Given the description of an element on the screen output the (x, y) to click on. 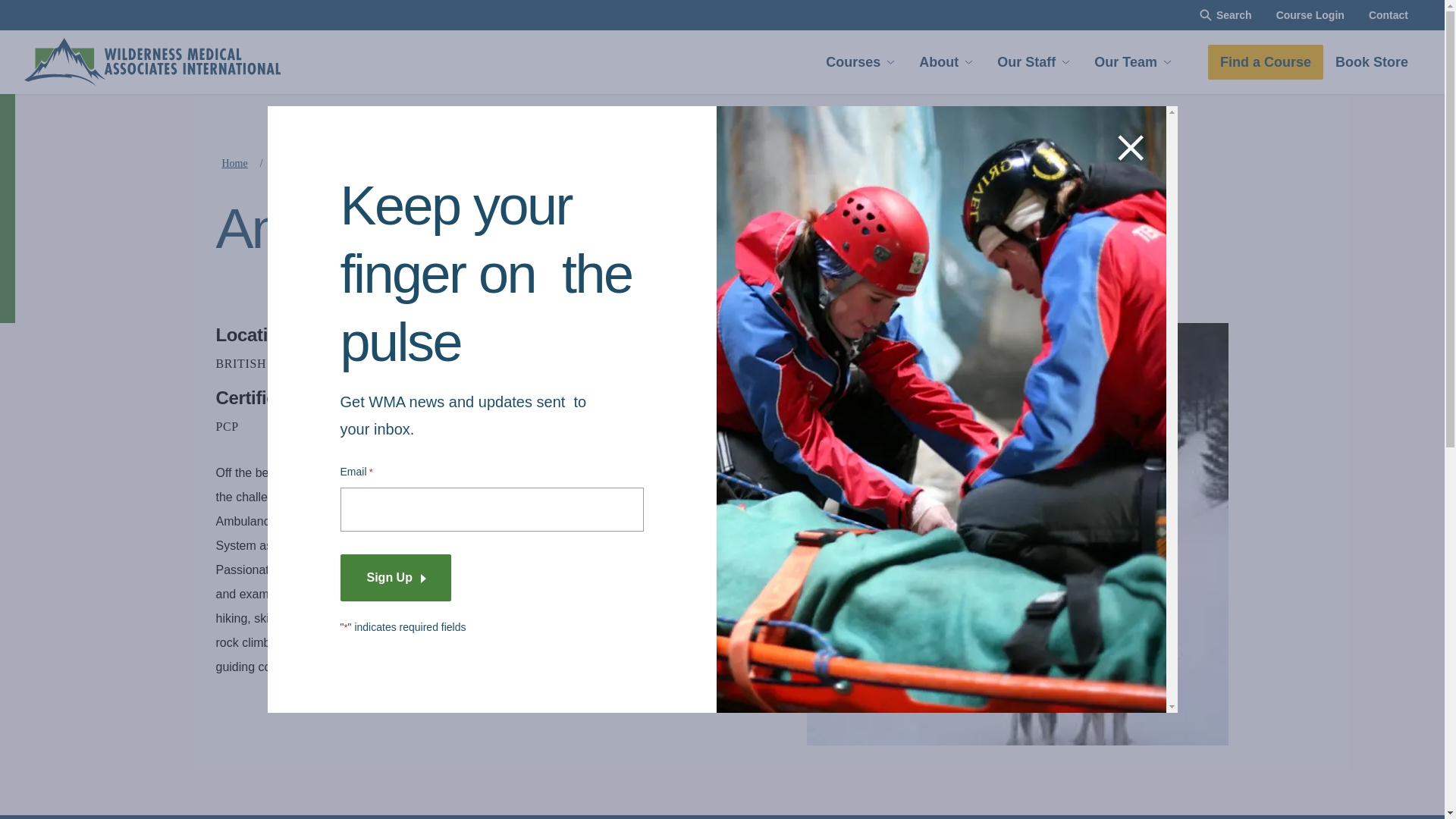
Wilderness Medical Associates International (152, 61)
Contact (1388, 15)
Courses (860, 61)
Our Team (1132, 61)
Go to Wilderness Medical Associates International. (234, 163)
Search (1224, 15)
Course Login (1309, 15)
Book Store (1372, 61)
Our Staff (1033, 61)
Find a Course (1265, 62)
Go to About. (288, 163)
About (946, 61)
Go to Instructors. (351, 163)
